Given the description of an element on the screen output the (x, y) to click on. 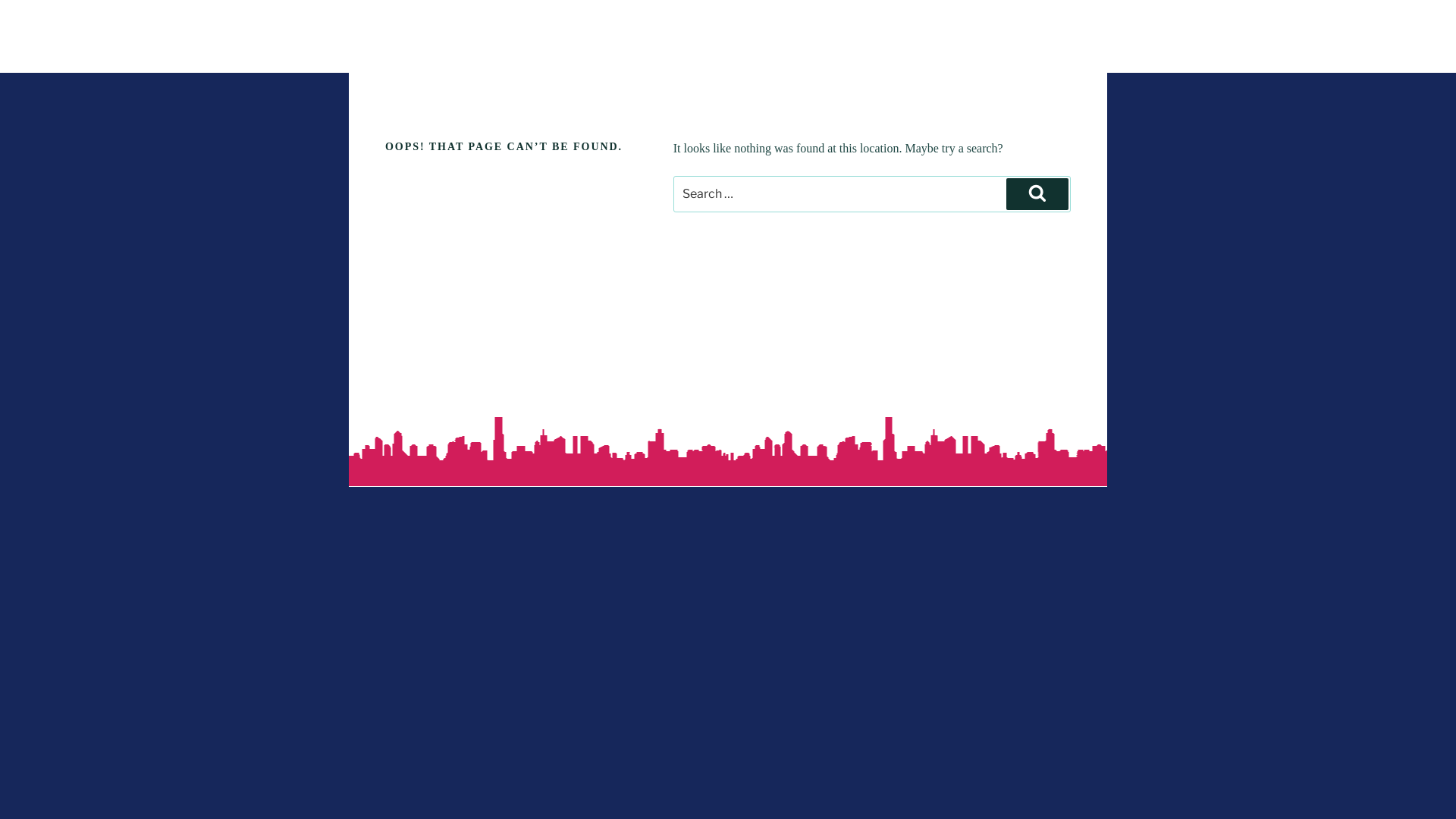
DC PARTNERS GROUP Element type: text (551, 52)
Search Element type: text (1037, 194)
